Given the description of an element on the screen output the (x, y) to click on. 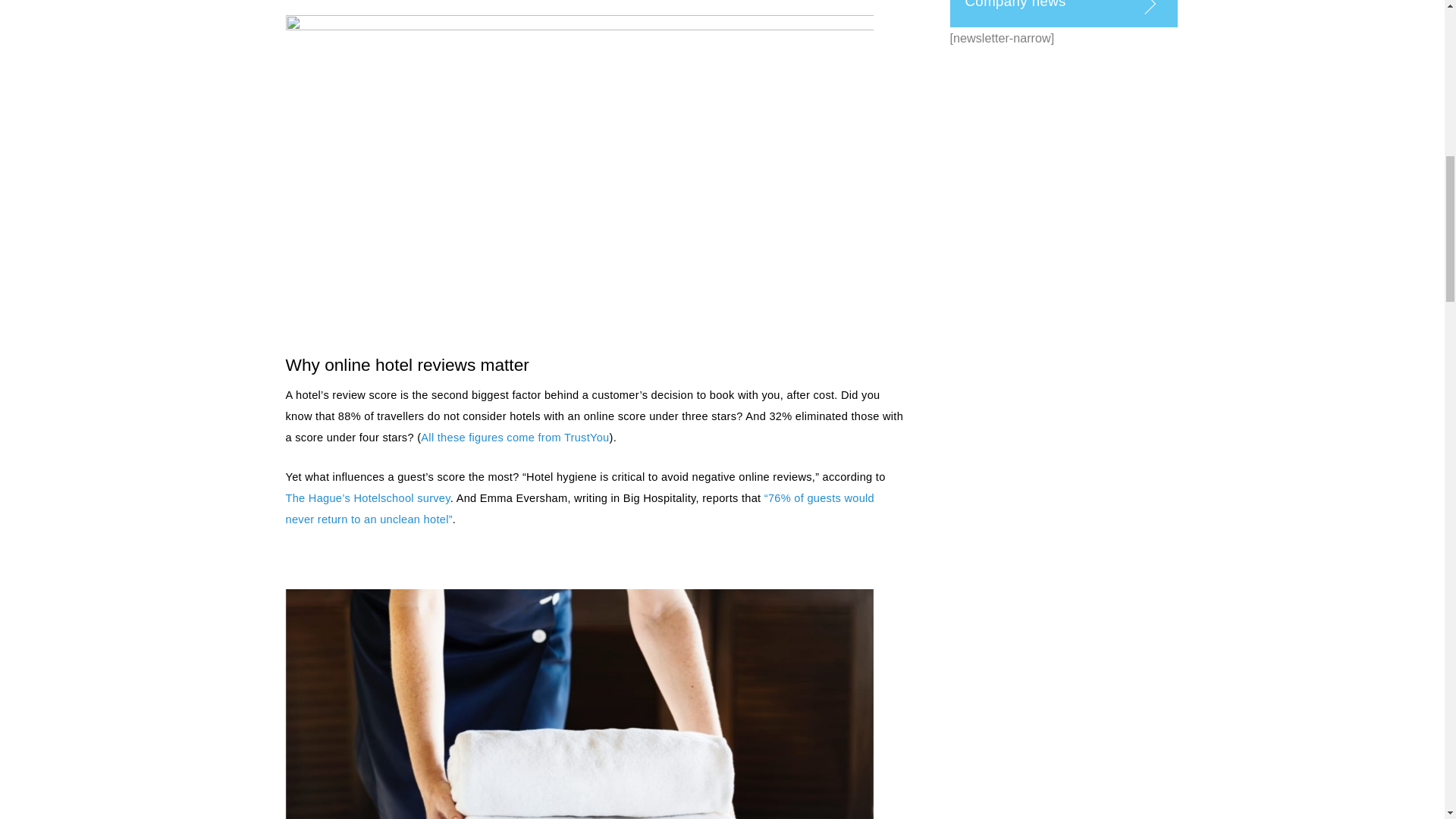
All these figures come from TrustYou (514, 437)
